Given the description of an element on the screen output the (x, y) to click on. 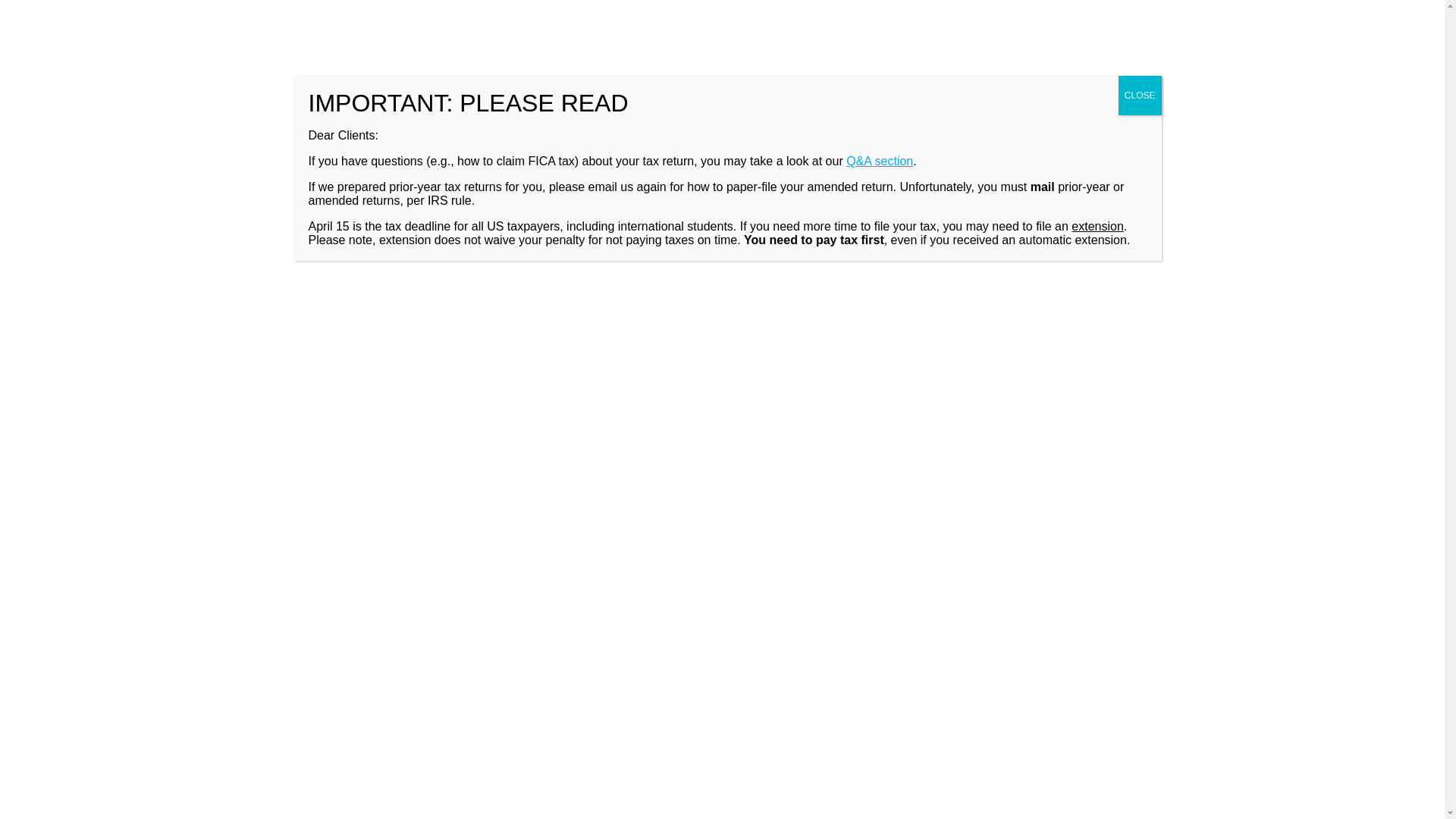
google form (390, 542)
CLOSE (1139, 1)
extension (1097, 113)
